Given the description of an element on the screen output the (x, y) to click on. 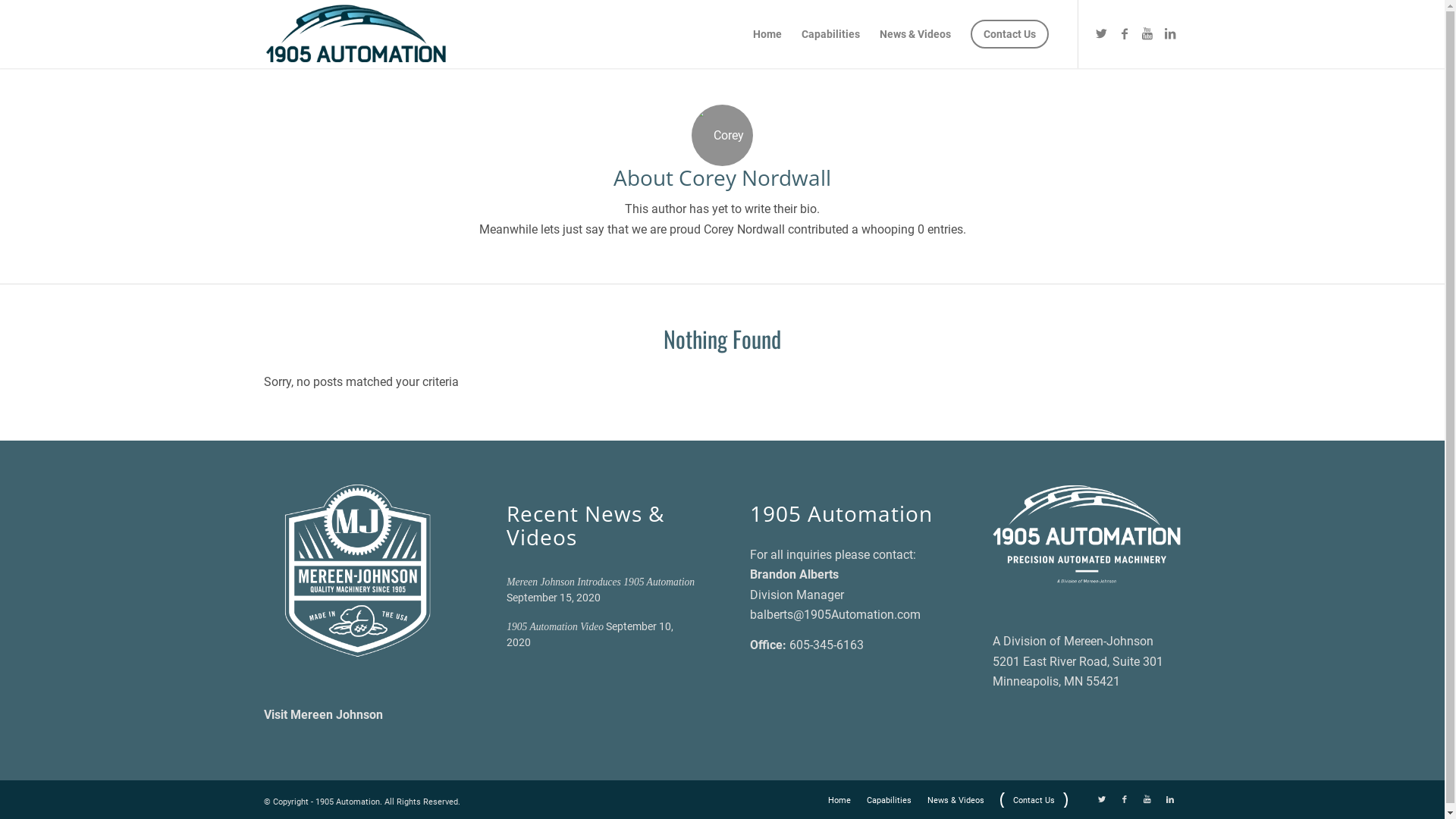
Mereen Johnson Introduces 1905 Automation Element type: text (600, 581)
Twitter Element type: hover (1101, 799)
Facebook Element type: hover (1124, 799)
Youtube Element type: hover (1146, 799)
LinkedIn Element type: hover (1169, 32)
Twitter Element type: hover (1101, 32)
1905 Automation Video Element type: text (554, 626)
Contact Us Element type: text (1032, 800)
News & Videos Element type: text (954, 800)
Capabilities Element type: text (830, 34)
Home Element type: text (839, 800)
Contact Us Element type: text (1008, 34)
LinkedIn Element type: hover (1169, 799)
News & Videos Element type: text (914, 34)
Home Element type: text (767, 34)
Facebook Element type: hover (1124, 32)
Capabilities Element type: text (888, 800)
Youtube Element type: hover (1146, 32)
balberts@1905Automation.com Element type: text (834, 614)
Visit Mereen Johnson Element type: text (322, 714)
